Given the description of an element on the screen output the (x, y) to click on. 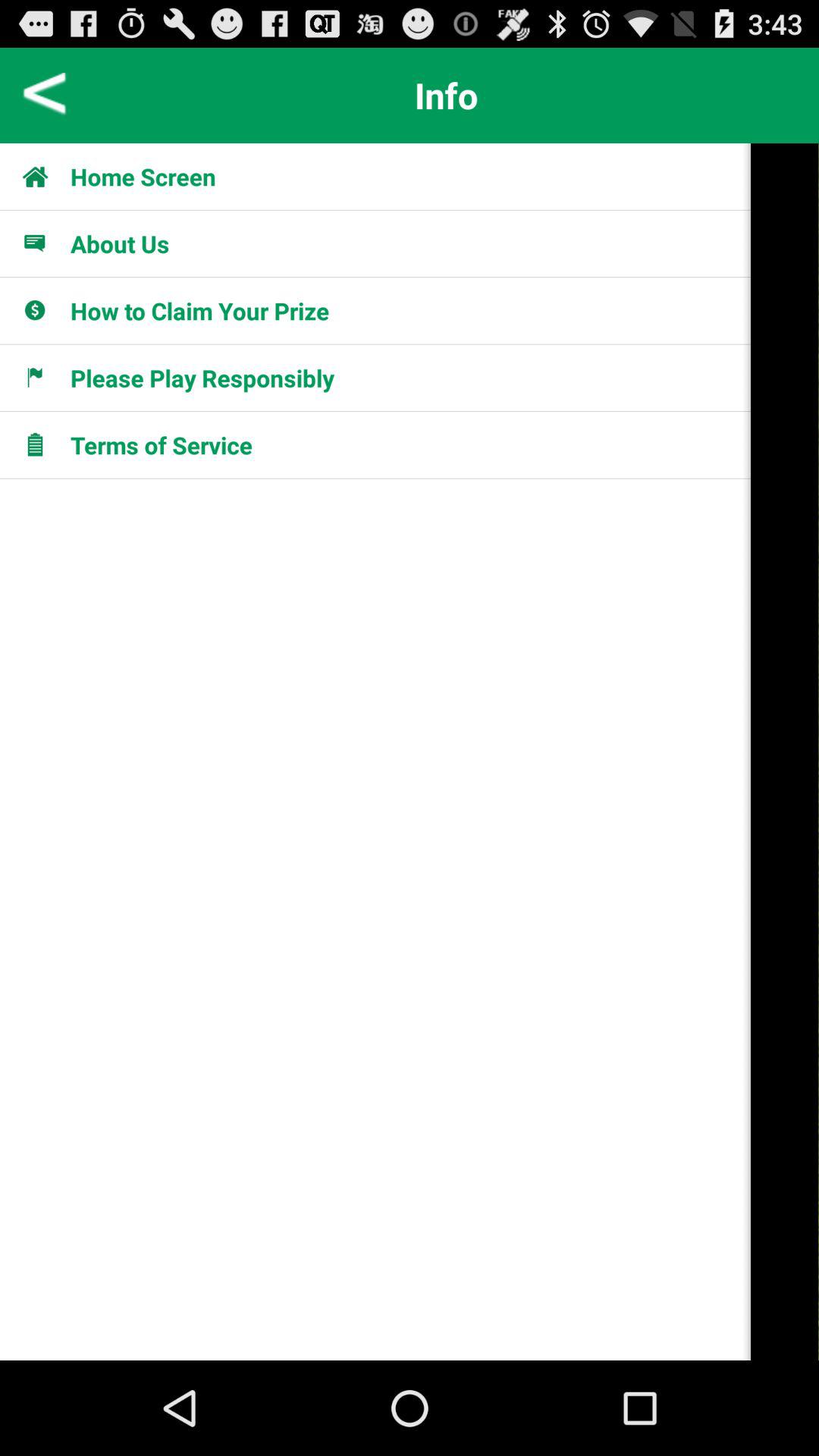
choose the icon next to the info (44, 94)
